Given the description of an element on the screen output the (x, y) to click on. 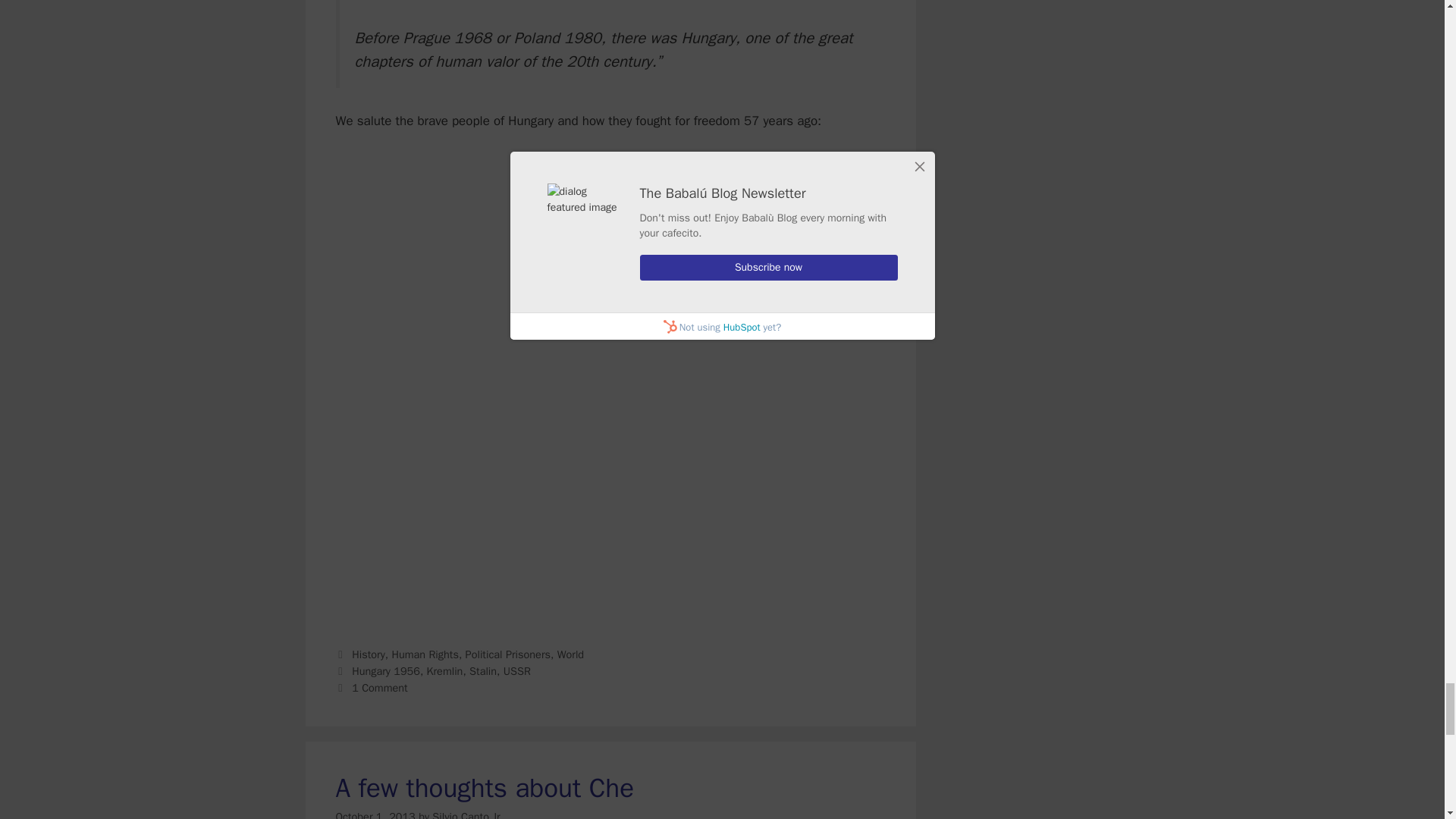
View all posts by Silvio Canto Jr. (467, 814)
